Given the description of an element on the screen output the (x, y) to click on. 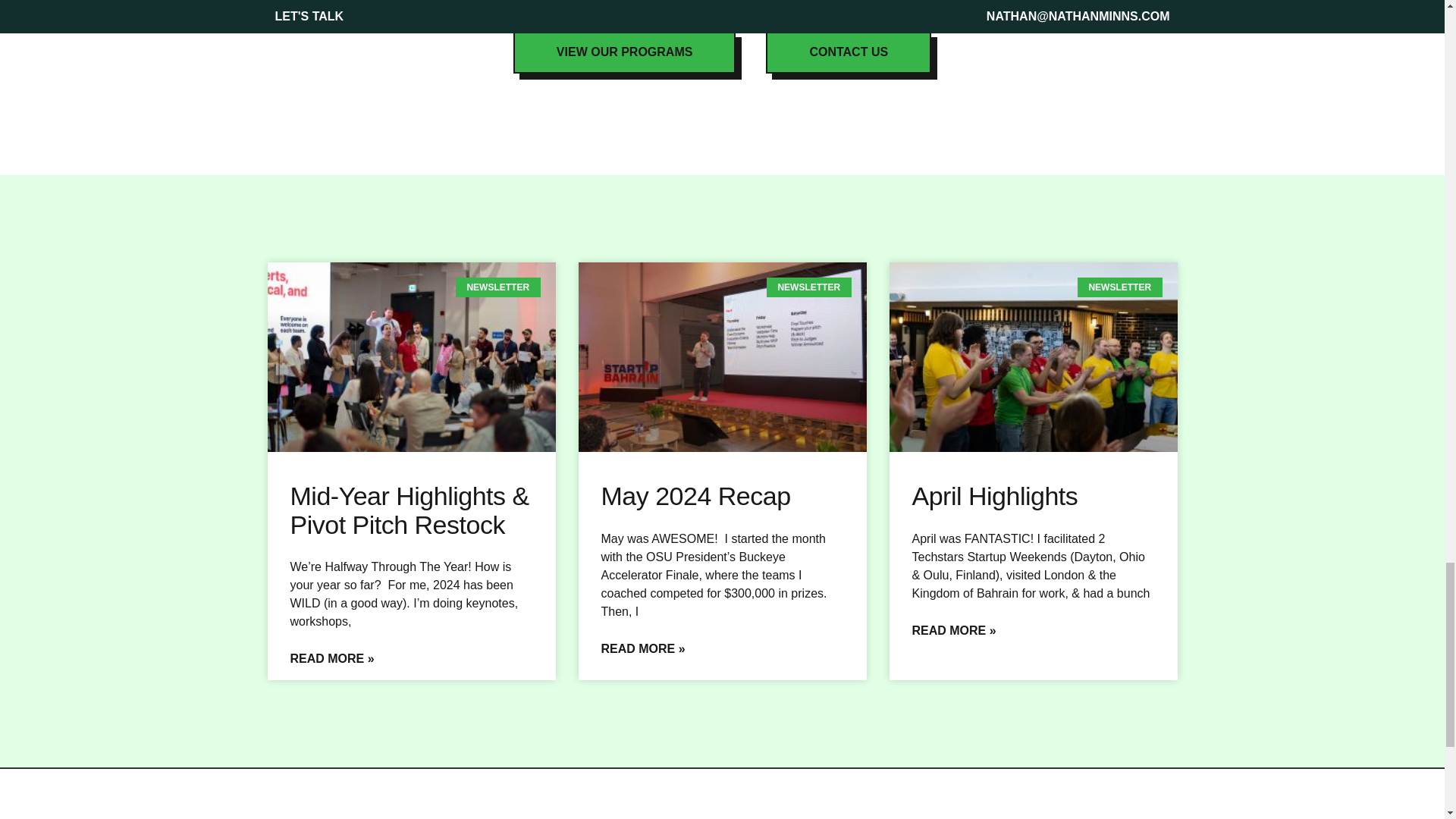
May 2024 Recap (694, 495)
CONTACT US (848, 52)
April Highlights (994, 495)
VIEW OUR PROGRAMS (624, 52)
